Given the description of an element on the screen output the (x, y) to click on. 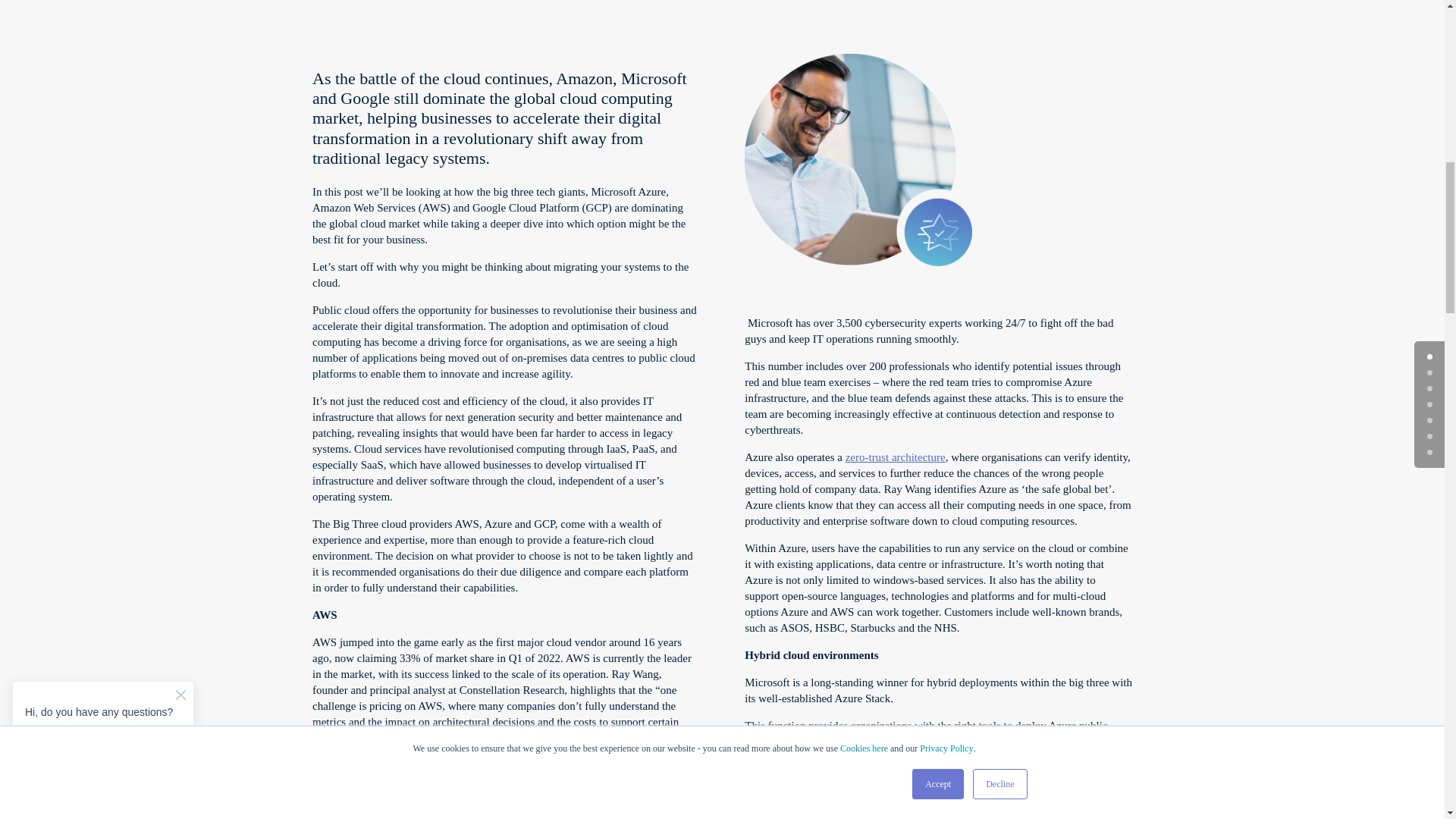
report (371, 765)
zero-trust architecture (894, 457)
